Given the description of an element on the screen output the (x, y) to click on. 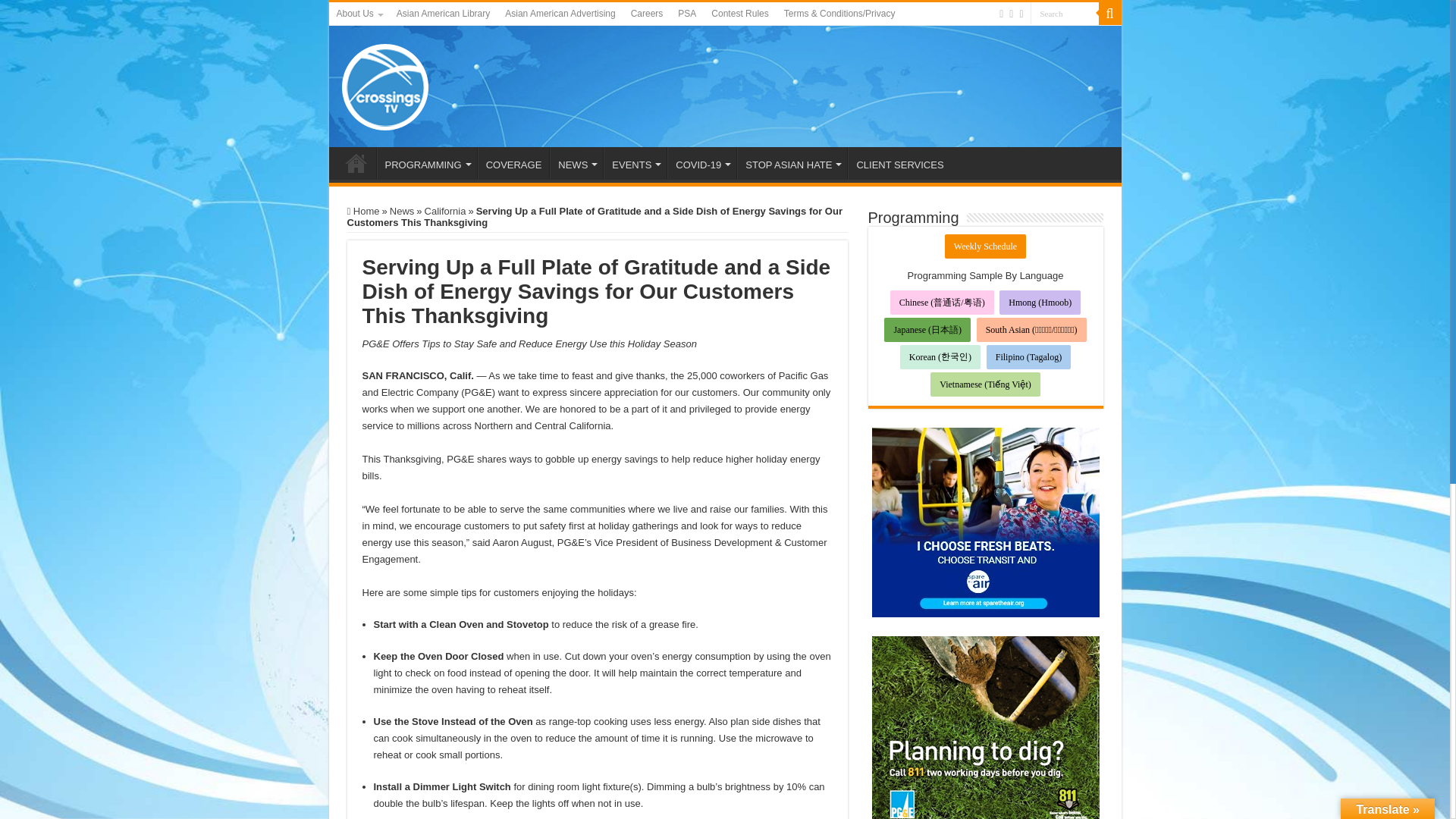
Search (1063, 13)
Search (1063, 13)
Crossings TV (384, 83)
Search (1063, 13)
